Given the description of an element on the screen output the (x, y) to click on. 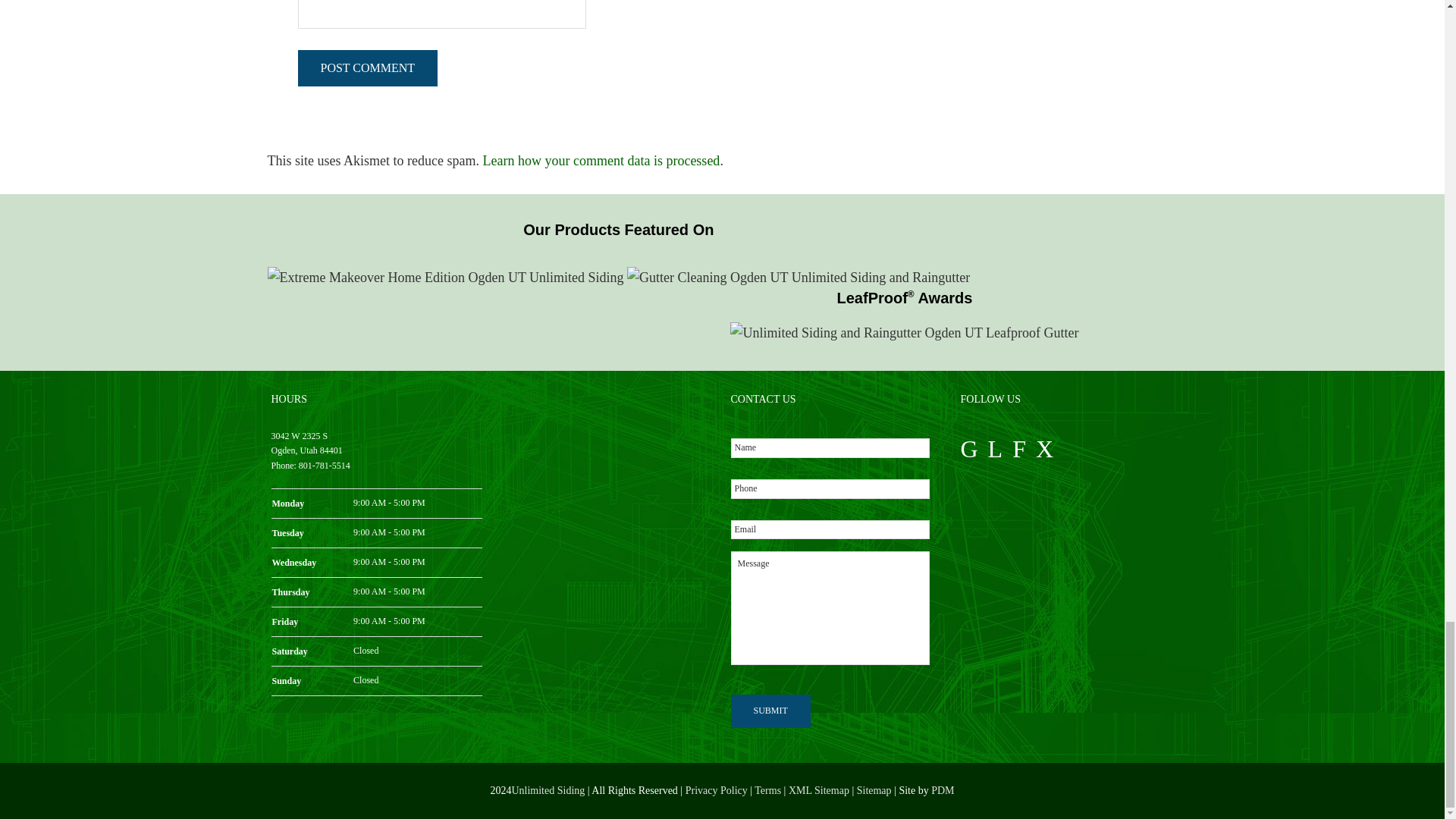
Submit (770, 711)
Post Comment (367, 67)
G (967, 448)
Unlimited Siding Google Maps Location (605, 499)
Learn how your comment data is processed (600, 160)
Unlimited Siding (548, 790)
Privacy Policy (716, 790)
Submit (770, 711)
L (995, 448)
X (1043, 448)
Ogden SEO (942, 790)
F (1018, 448)
Post Comment (367, 67)
801-781-5514 (324, 465)
